Given the description of an element on the screen output the (x, y) to click on. 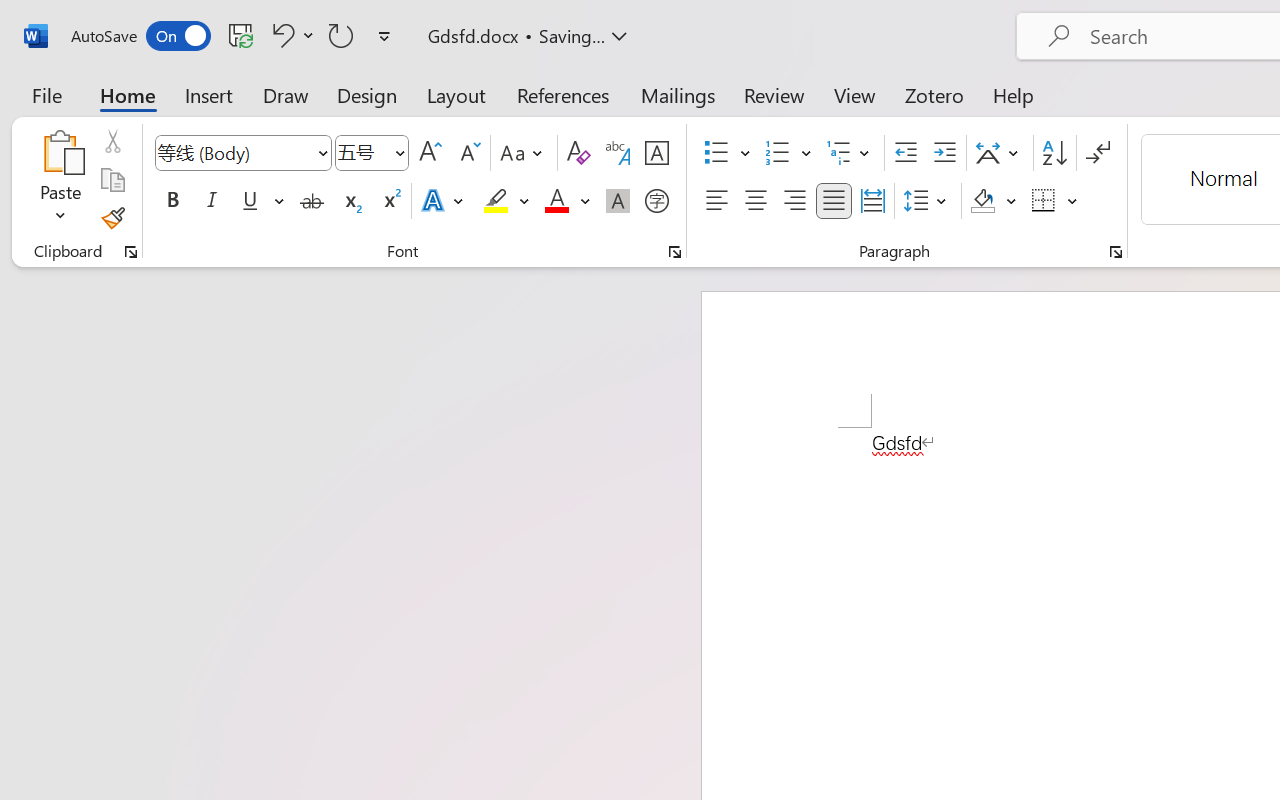
Font Color (567, 201)
Subscript (350, 201)
Shading (993, 201)
Multilevel List (850, 153)
Undo Style (280, 35)
Office Clipboard... (131, 252)
Align Right (794, 201)
Text Highlight Color (506, 201)
Clear Formatting (578, 153)
Shrink Font (468, 153)
Cut (112, 141)
